Given the description of an element on the screen output the (x, y) to click on. 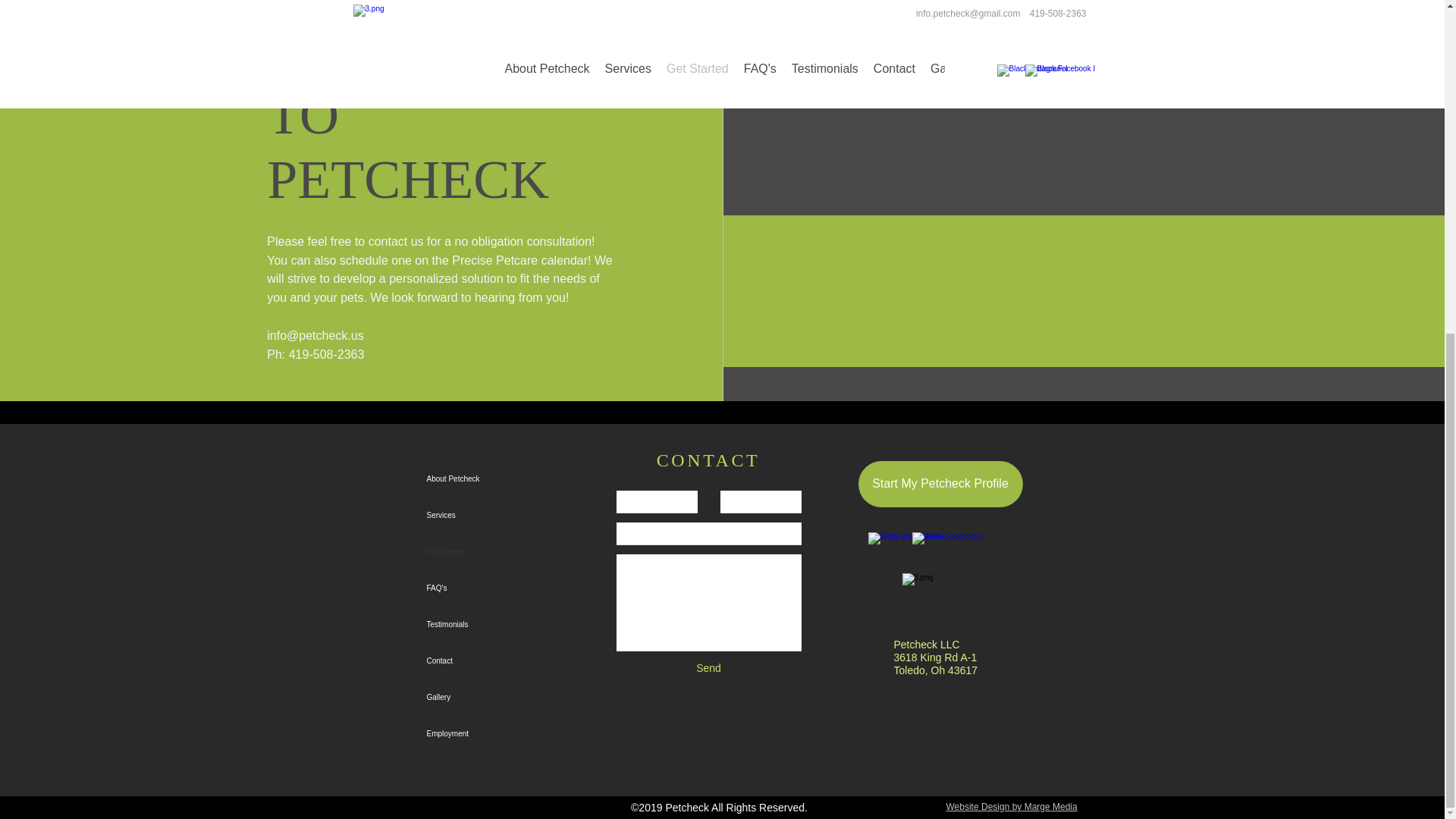
Employment (479, 733)
Services (479, 515)
Testimonials (479, 624)
Facebook Like (982, 544)
Website Design by Marge Media (1011, 806)
Gallery (479, 697)
FAQ's (479, 588)
Contact (479, 660)
Get Started (479, 551)
Start My Petcheck Profile (941, 483)
About Petcheck (479, 479)
Send (708, 668)
